Given the description of an element on the screen output the (x, y) to click on. 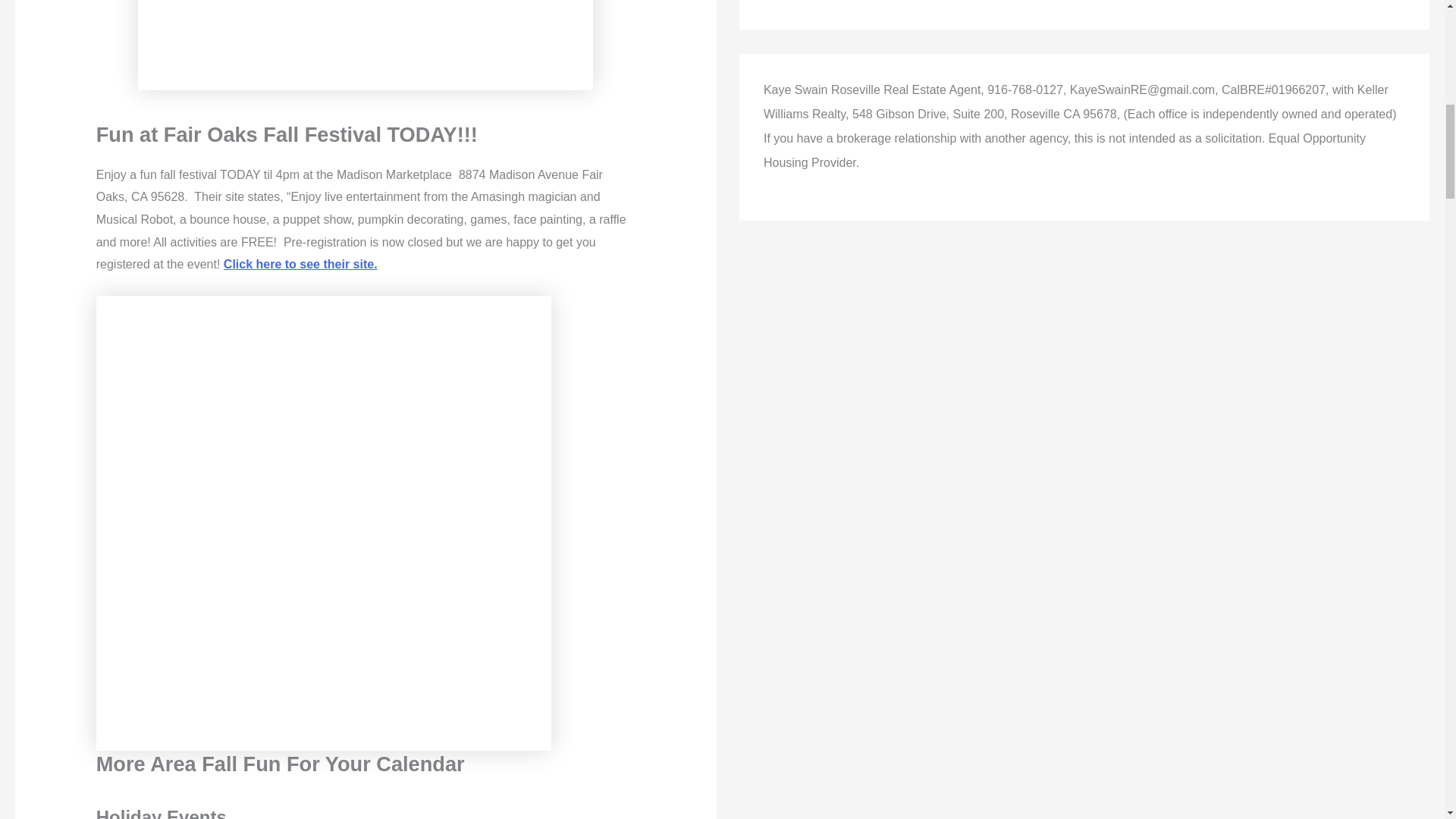
Click here to see their site. (300, 264)
